Given the description of an element on the screen output the (x, y) to click on. 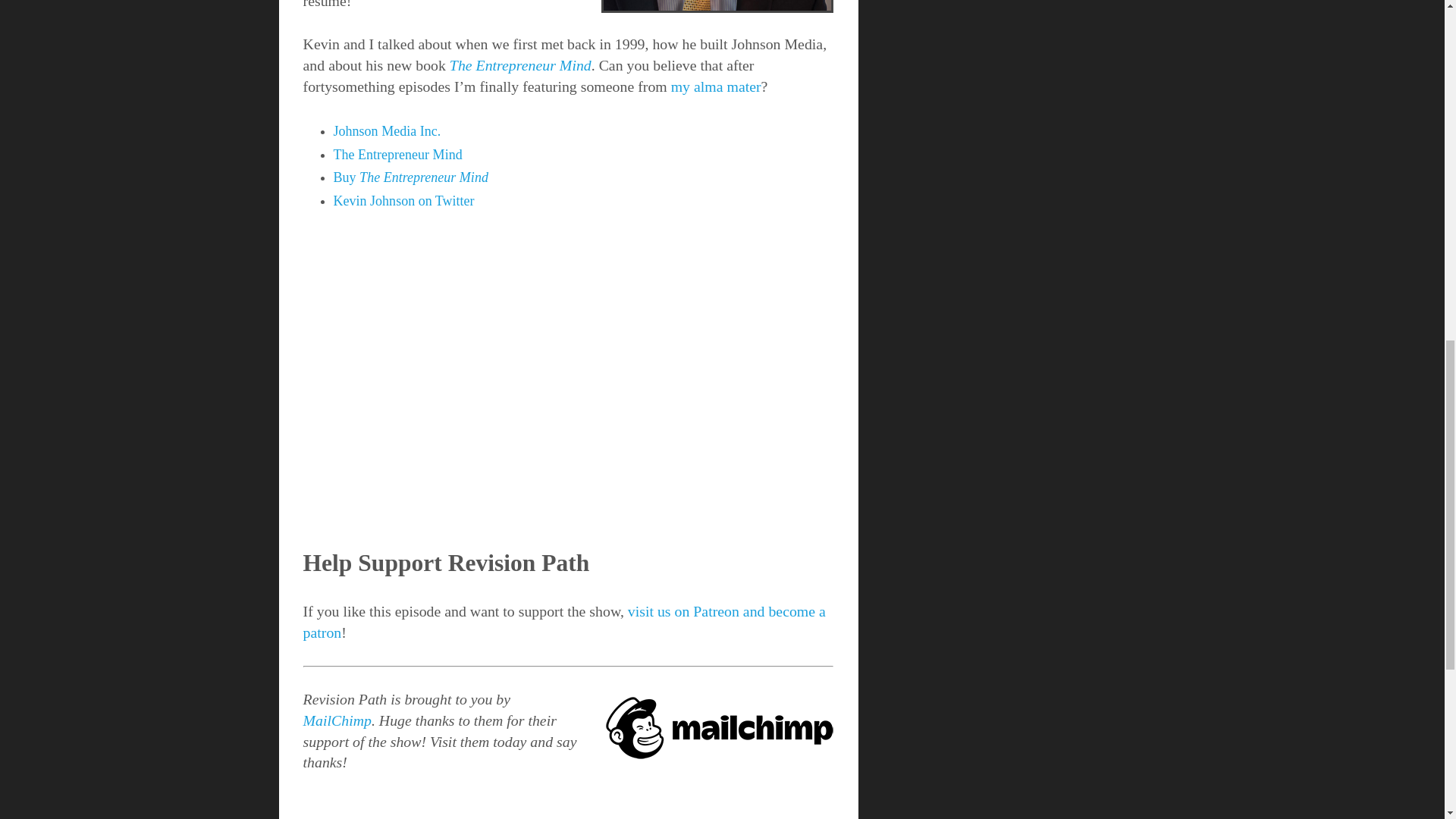
Buy The Entrepreneur Mind (410, 177)
Johnson Media Inc. (387, 130)
The Entrepreneur Mind (520, 64)
MailChimp (336, 719)
visit us on Patreon and become a patron (563, 621)
The Entrepreneur Mind (398, 154)
Kevin Johnson on Twitter (403, 200)
my alma mater (716, 86)
